Given the description of an element on the screen output the (x, y) to click on. 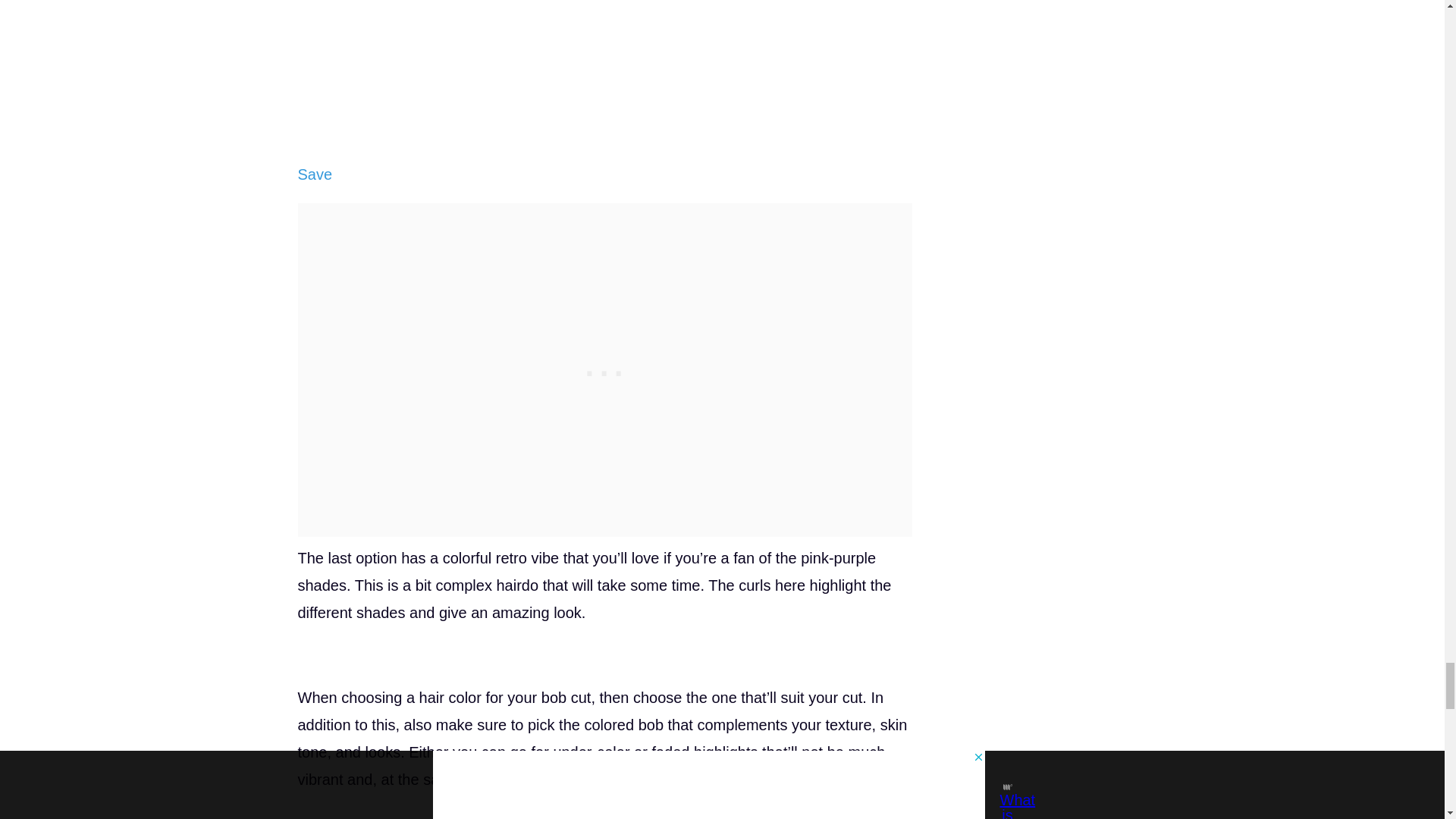
Save (314, 174)
